Given the description of an element on the screen output the (x, y) to click on. 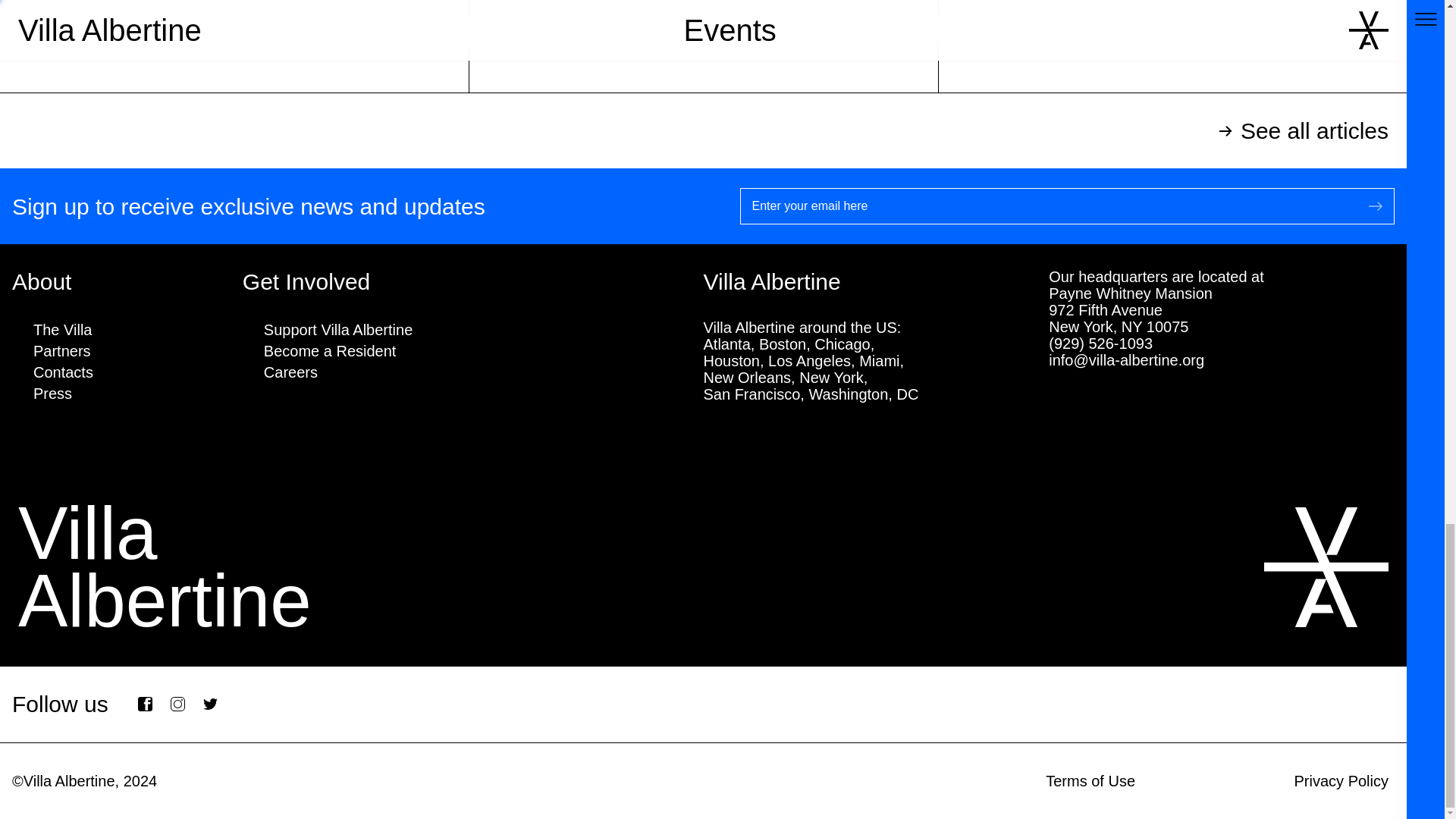
Contacts (63, 372)
Press (52, 393)
Become a Resident (329, 350)
Terms of Use (1090, 781)
Partners (61, 350)
The Villa (62, 329)
Privacy Policy (1341, 781)
Submit (1375, 206)
See all articles (703, 130)
Support Villa Albertine (337, 329)
Careers (290, 372)
